Given the description of an element on the screen output the (x, y) to click on. 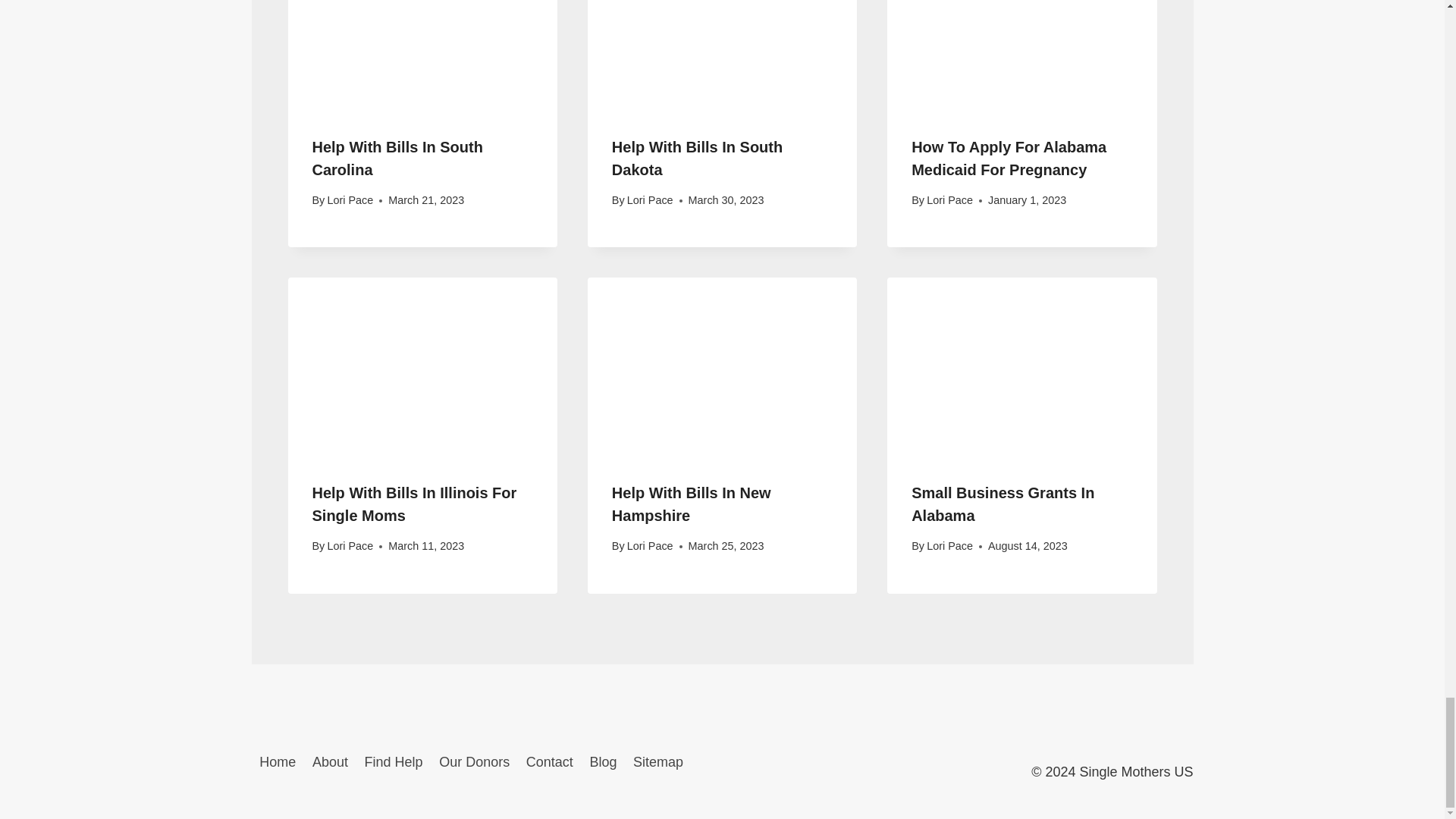
Help With Bills In South Dakota 5 (722, 55)
How To Apply For Alabama Medicaid For Pregnancy 6 (1021, 55)
Small Business Grants In Alabama 9 (1021, 367)
Help With Bills In New Hampshire 8 (722, 367)
Help With Bills In Illinois For Single Moms 7 (422, 367)
Help With Bills In South Carolina 4 (422, 55)
